Given the description of an element on the screen output the (x, y) to click on. 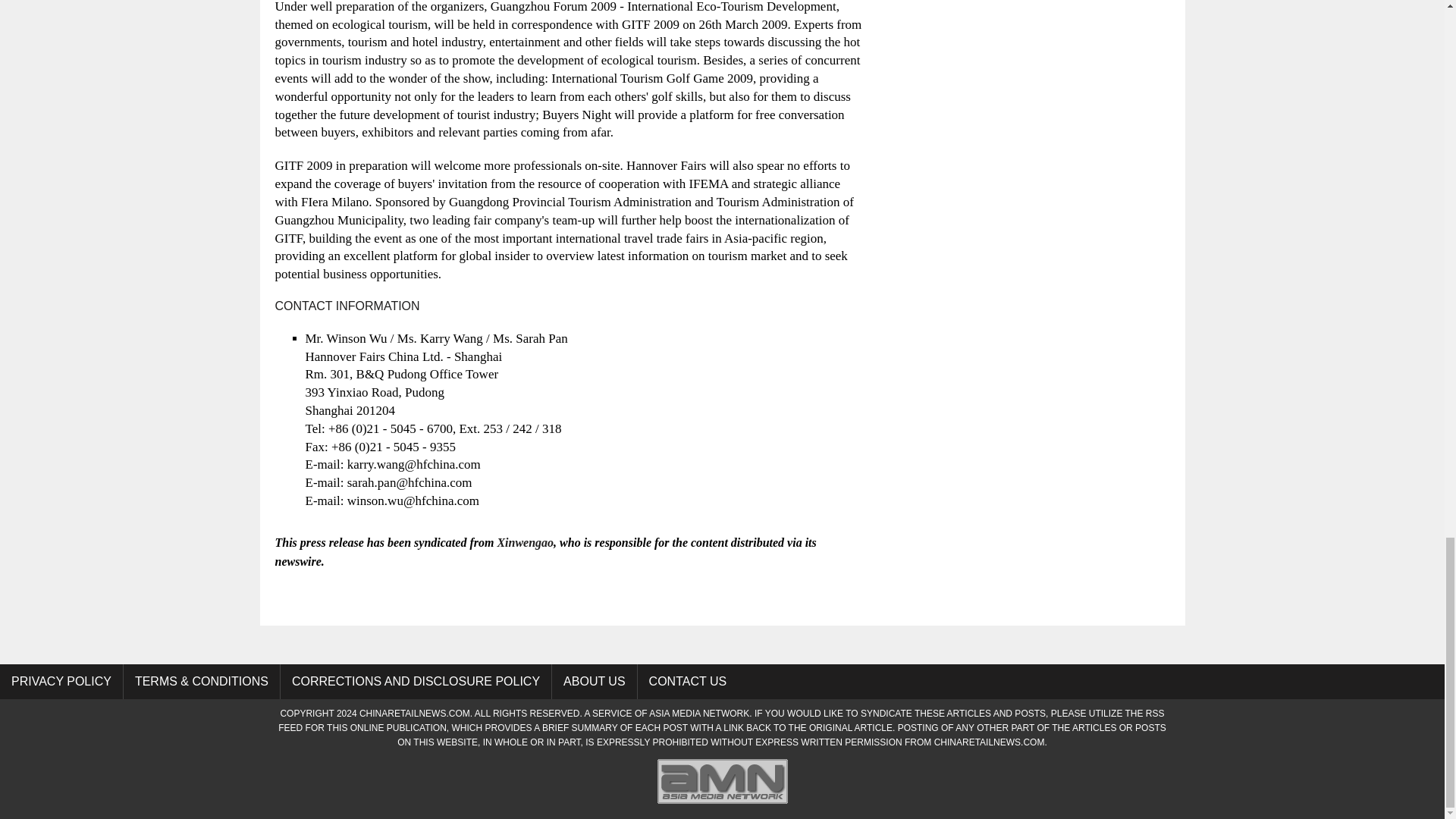
Xinwengao (524, 542)
Asia Media Network (699, 713)
Asia Media Network (721, 802)
